Given the description of an element on the screen output the (x, y) to click on. 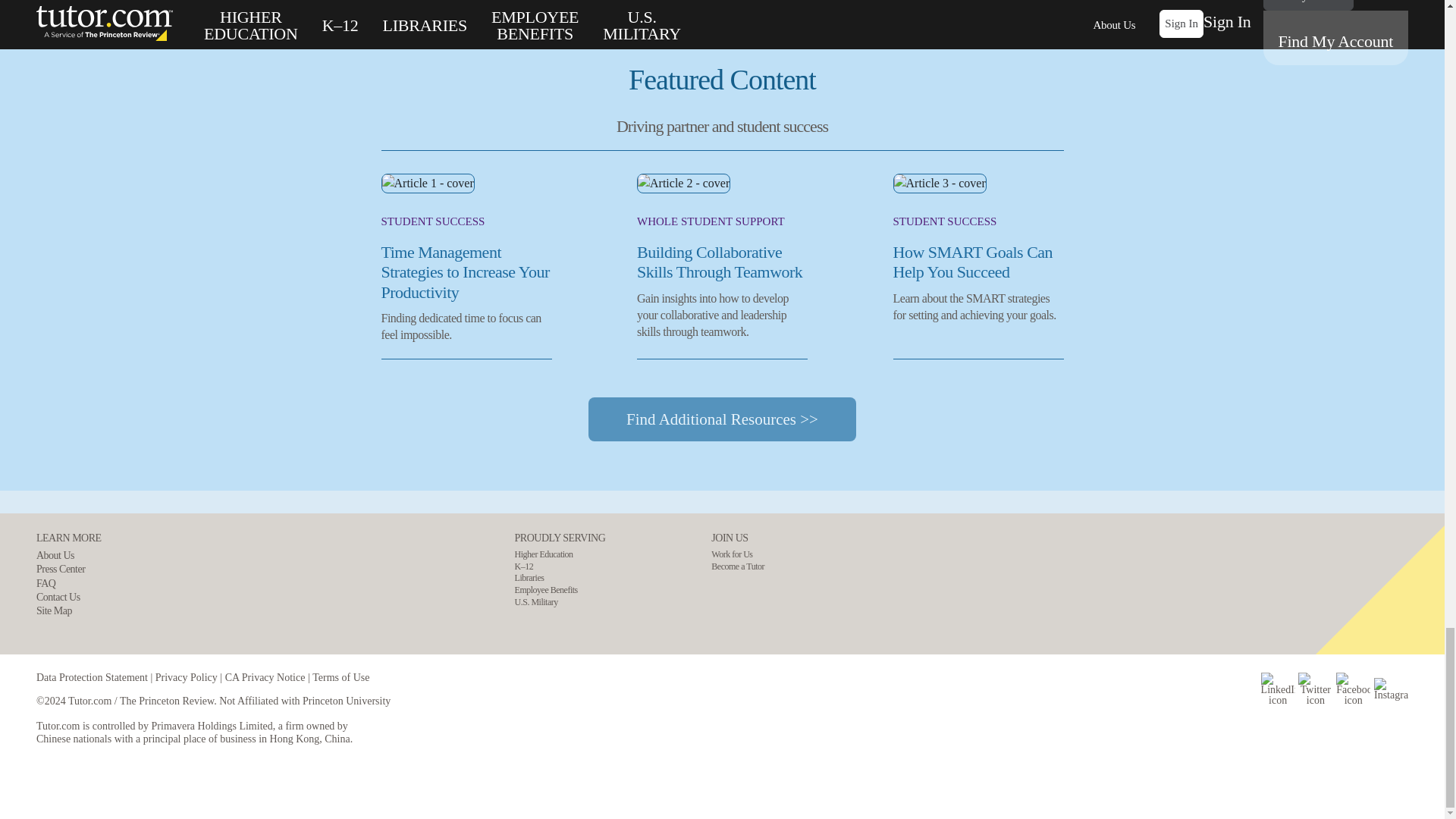
Time Management Strategies to Increase Your Productivity (464, 272)
About Us (68, 555)
FAQ (68, 583)
How SMART Goals Can Help You Succeed (972, 261)
Contact Us (68, 597)
Press Center (68, 569)
Building Collaborative Skills Through Teamwork (719, 261)
